Given the description of an element on the screen output the (x, y) to click on. 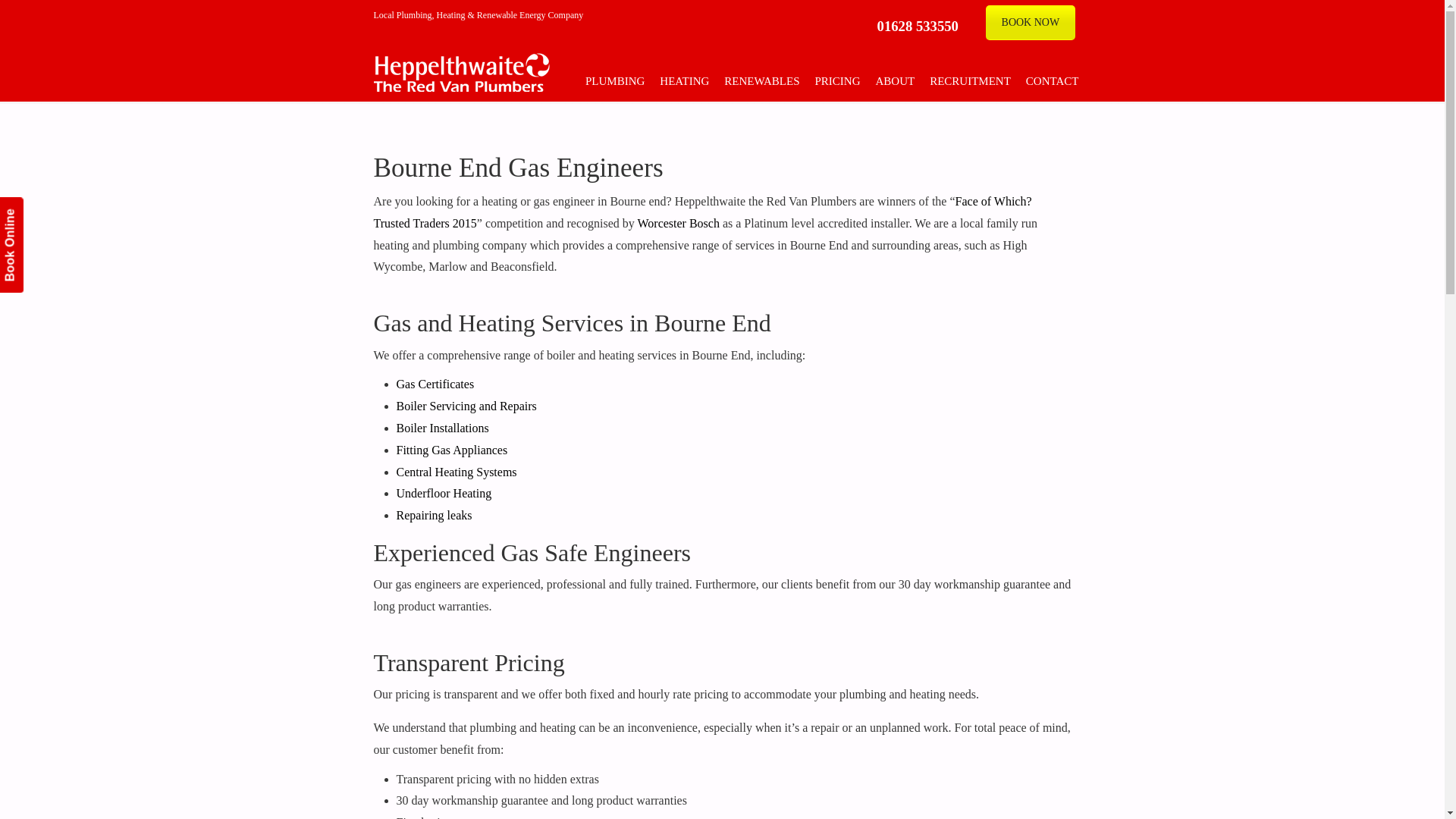
Face of Which? Trusted Traders 2015 (701, 212)
Repairing leaks (433, 514)
Worcester Bosch (678, 223)
BOOK NOW (1030, 22)
Boiler Installations (441, 427)
Central Heating Systems (456, 472)
Gas Certificates (435, 383)
Red Van Plumbers (485, 49)
Underfloor Heating (444, 492)
Book Online (47, 209)
01628 533550 (917, 26)
Boiler Servicing and Repairs (465, 405)
Red Van Plumbers (485, 49)
Fitting Gas Appliances (451, 449)
